Given the description of an element on the screen output the (x, y) to click on. 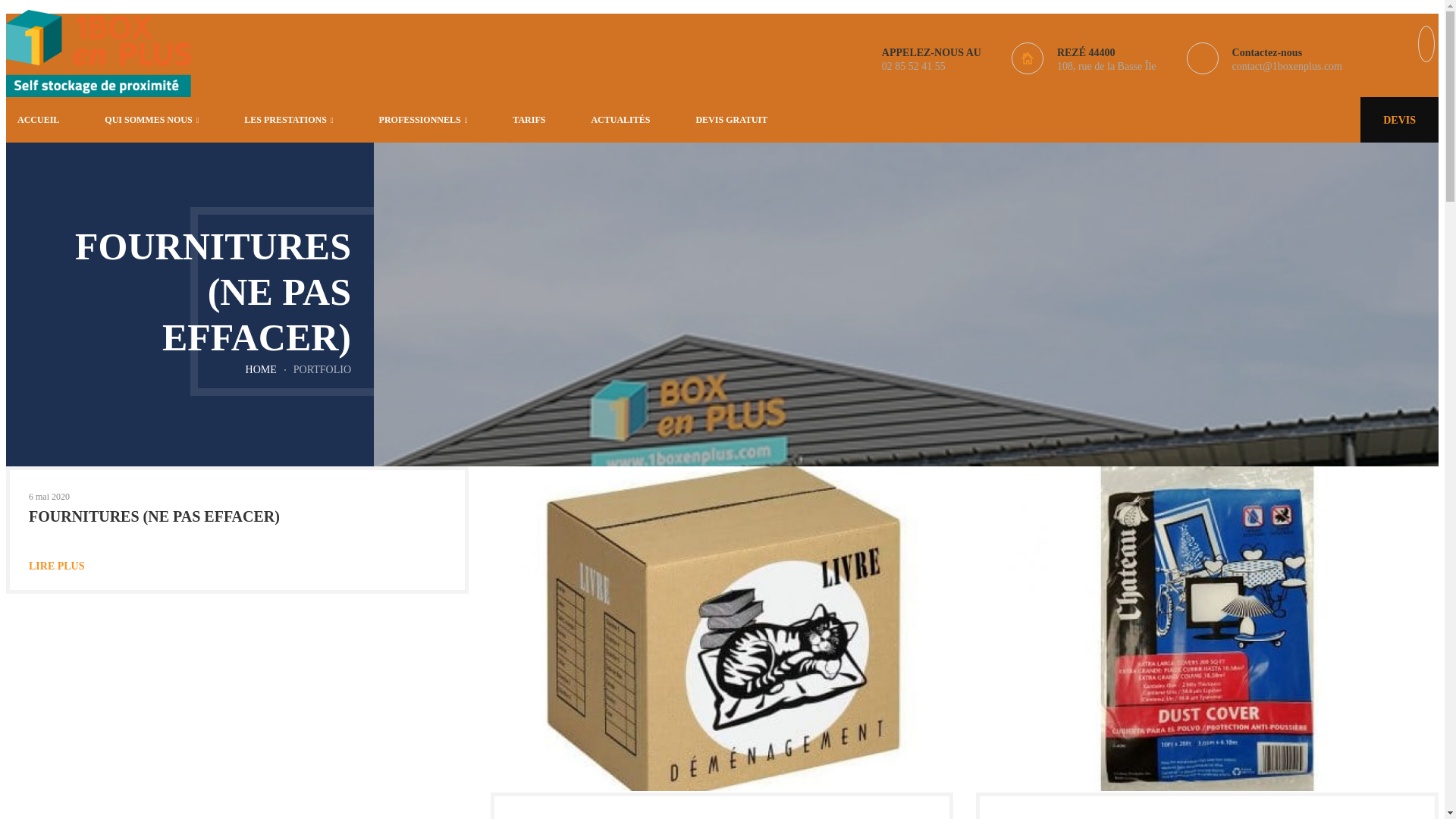
LES PRESTATIONS Element type: text (288, 119)
LIRE PLUS Element type: text (236, 566)
QUI SOMMES NOUS Element type: text (151, 119)
ACCUEIL Element type: text (38, 119)
HOME Element type: text (260, 369)
DEVIS Element type: text (1399, 119)
DEVIS GRATUIT Element type: text (731, 119)
TARIFS Element type: text (528, 119)
PROFESSIONNELS Element type: text (423, 119)
contact@1boxenplus.com Element type: text (1287, 66)
FOURNITURES (NE PAS EFFACER) Element type: text (153, 516)
